Given the description of an element on the screen output the (x, y) to click on. 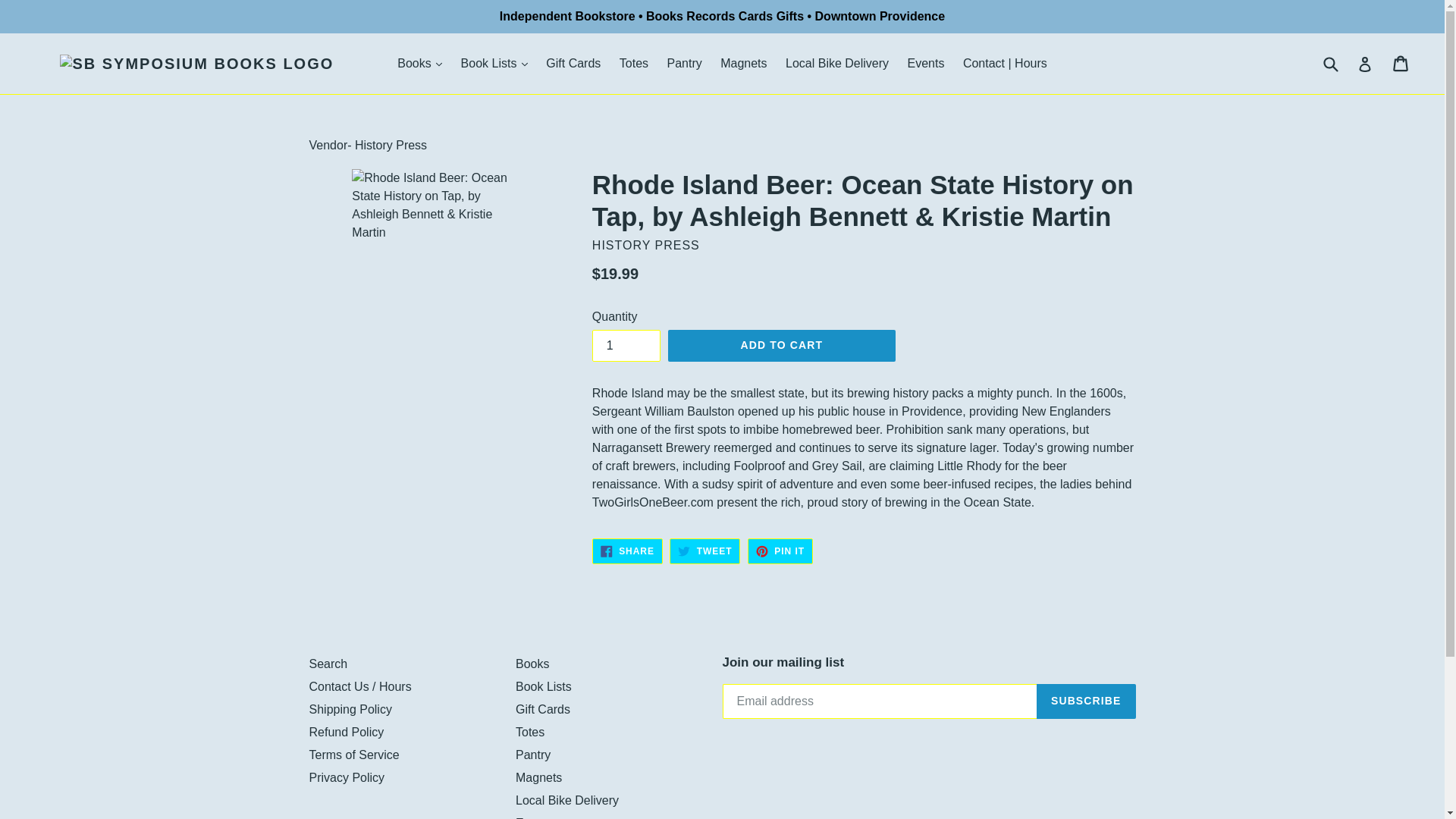
Tweet on Twitter (704, 551)
1 (626, 345)
Pin on Pinterest (780, 551)
Share on Facebook (627, 551)
